Given the description of an element on the screen output the (x, y) to click on. 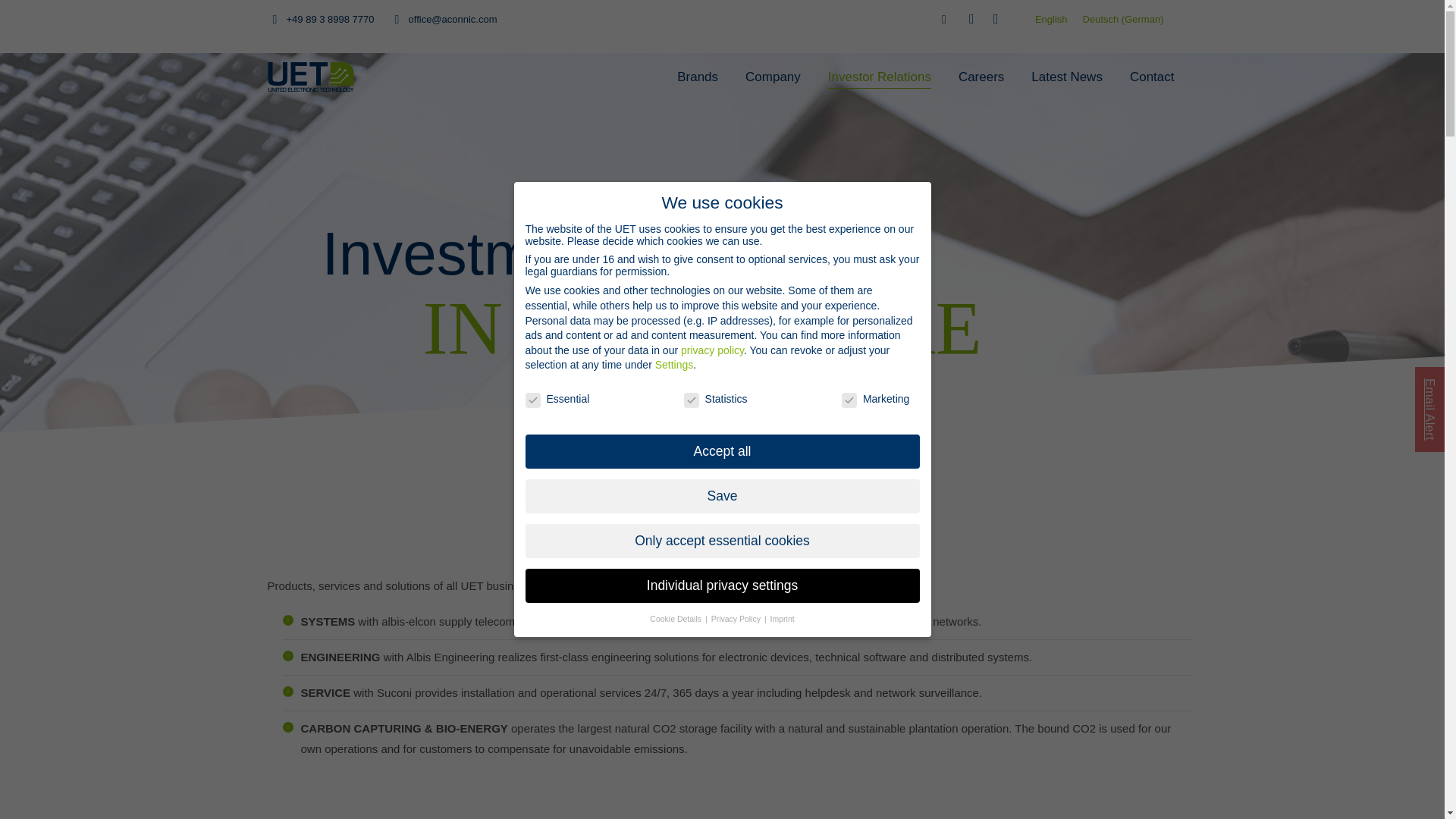
English (1051, 18)
Careers (981, 76)
Go! (24, 16)
Contact (1151, 76)
Linkedin page opens in new window (970, 19)
Investor Relations (879, 76)
XING page opens in new window (995, 19)
Company (772, 76)
Brands (697, 76)
XING page opens in new window (995, 19)
Latest News (1066, 76)
Linkedin page opens in new window (970, 19)
